Given the description of an element on the screen output the (x, y) to click on. 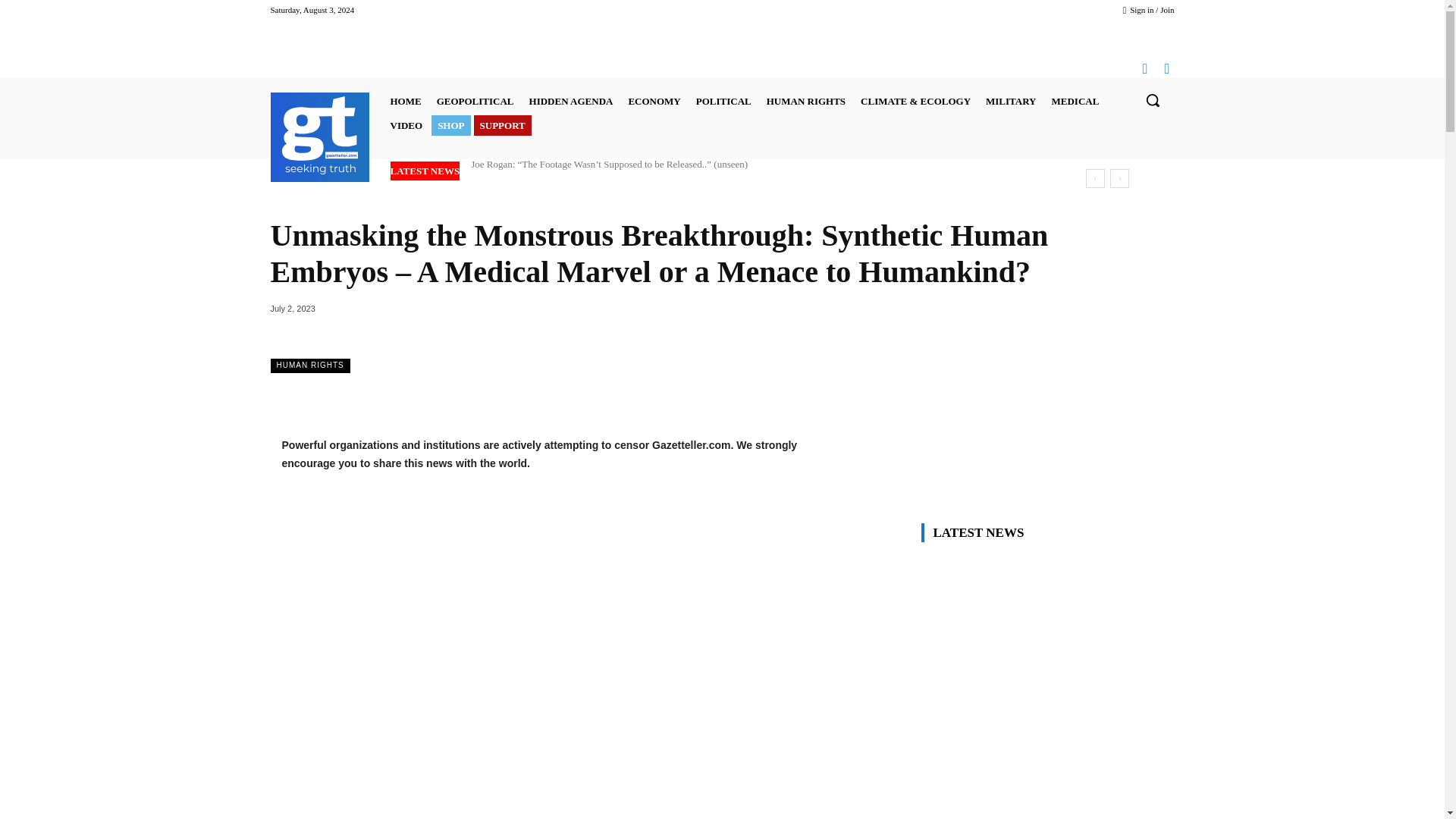
SUPPORT (502, 125)
VIDEO (406, 125)
HUMAN RIGHTS (805, 100)
Telegram (1144, 66)
Twitter (1167, 66)
MILITARY (1010, 100)
HIDDEN AGENDA (571, 100)
HOME (405, 100)
POLITICAL (723, 100)
MEDICAL (1075, 100)
